Given the description of an element on the screen output the (x, y) to click on. 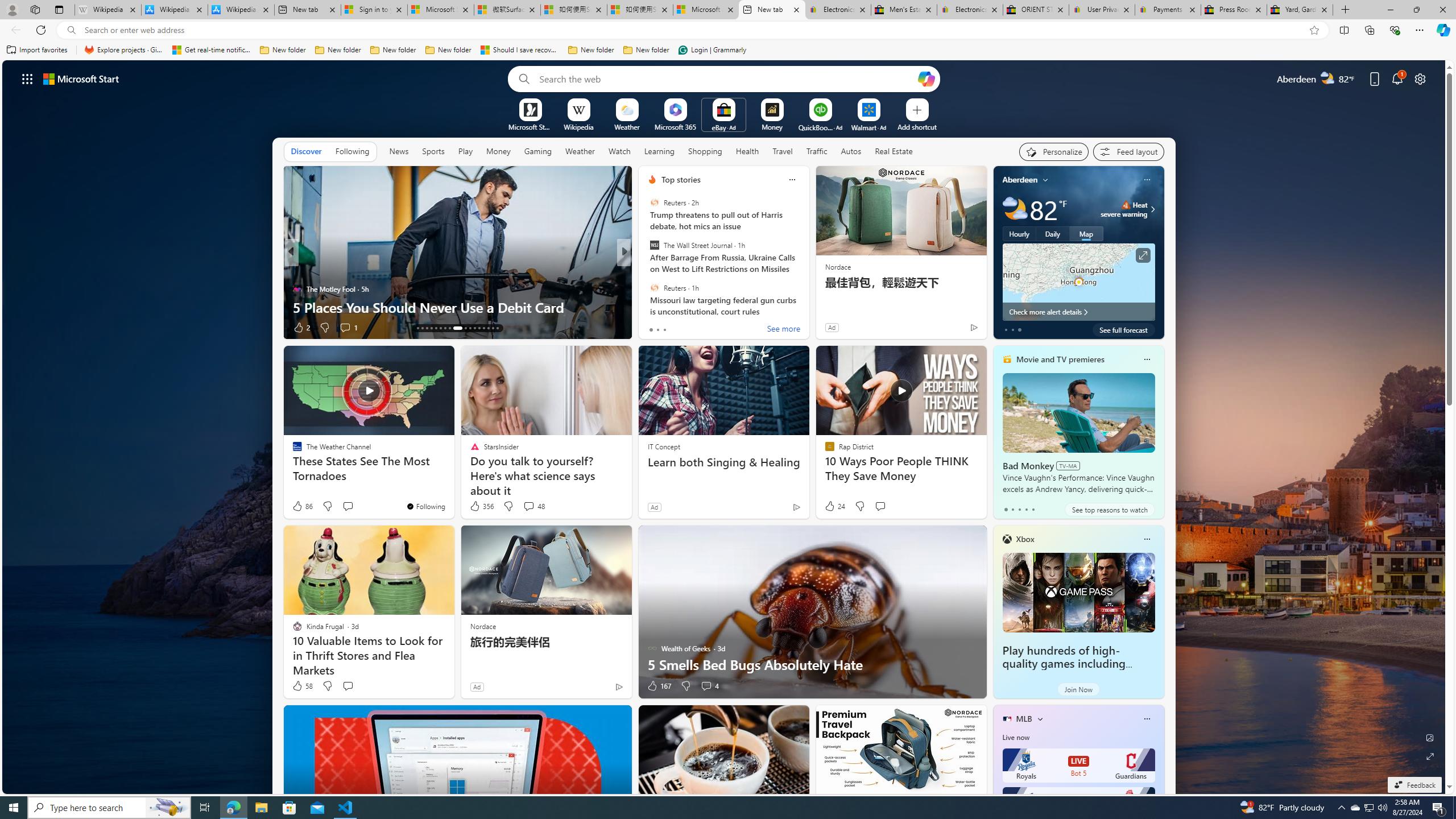
Login | Grammarly (712, 49)
Reuters (654, 287)
tab-1 (1012, 509)
356 Like (480, 505)
Royals LIVE Bot 5 Guardians (1077, 765)
Travel (782, 151)
Press Room - eBay Inc. (1233, 9)
